Given the description of an element on the screen output the (x, y) to click on. 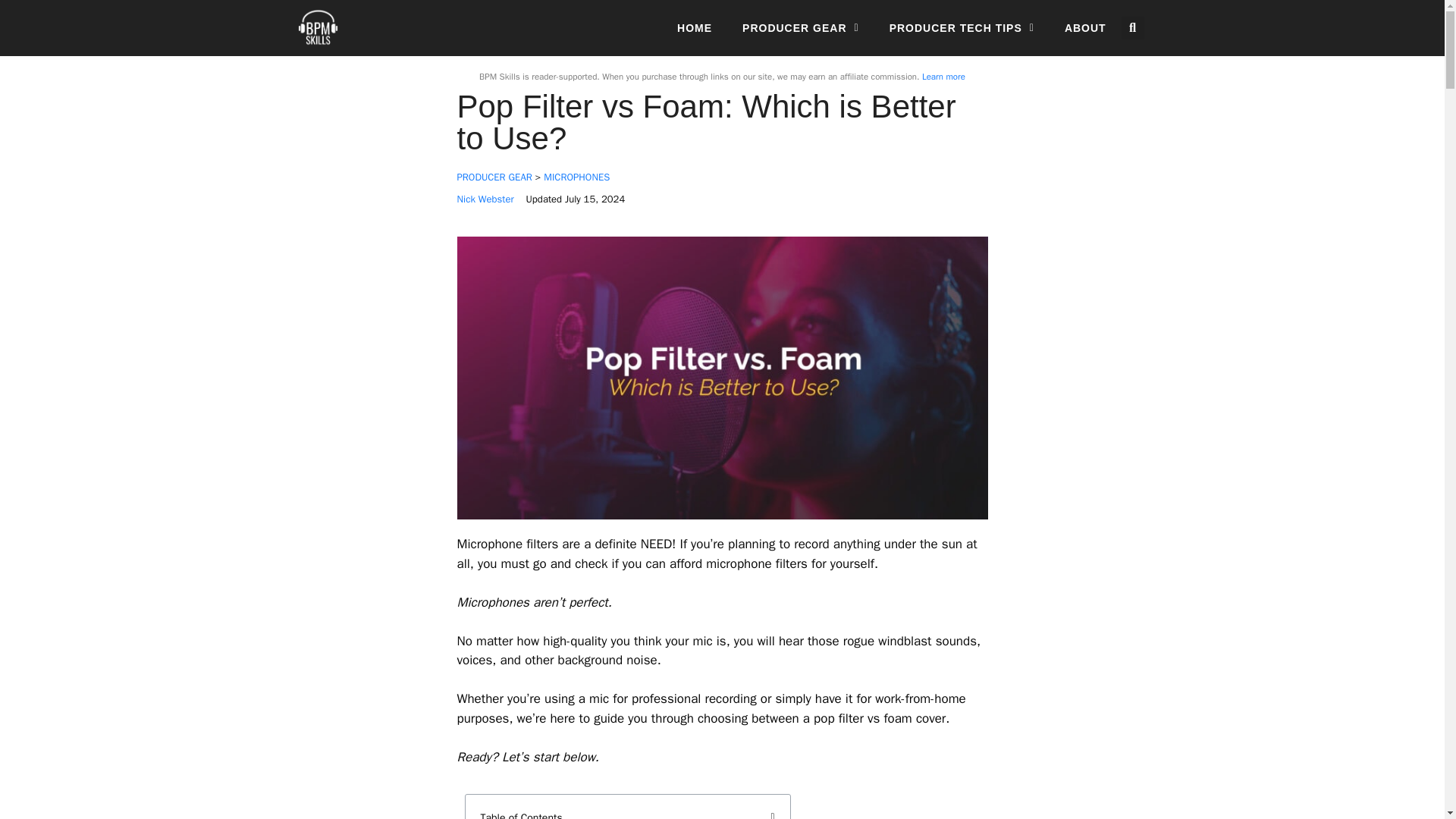
PRODUCER TECH TIPS (961, 28)
Learn more (943, 76)
PRODUCER GEAR (800, 28)
ABOUT (1085, 28)
HOME (694, 28)
